Given the description of an element on the screen output the (x, y) to click on. 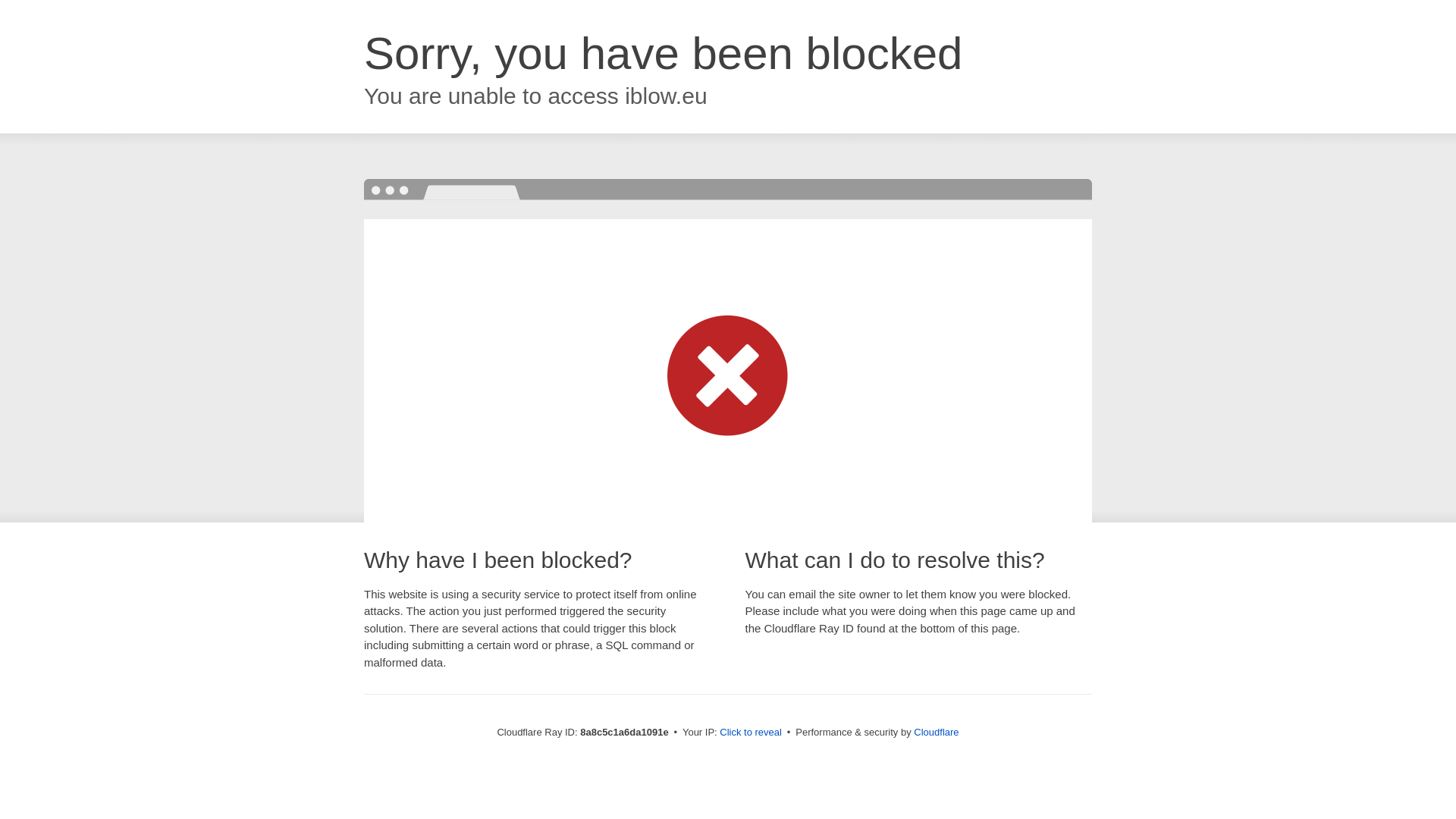
Cloudflare (936, 731)
Click to reveal (750, 732)
